Given the description of an element on the screen output the (x, y) to click on. 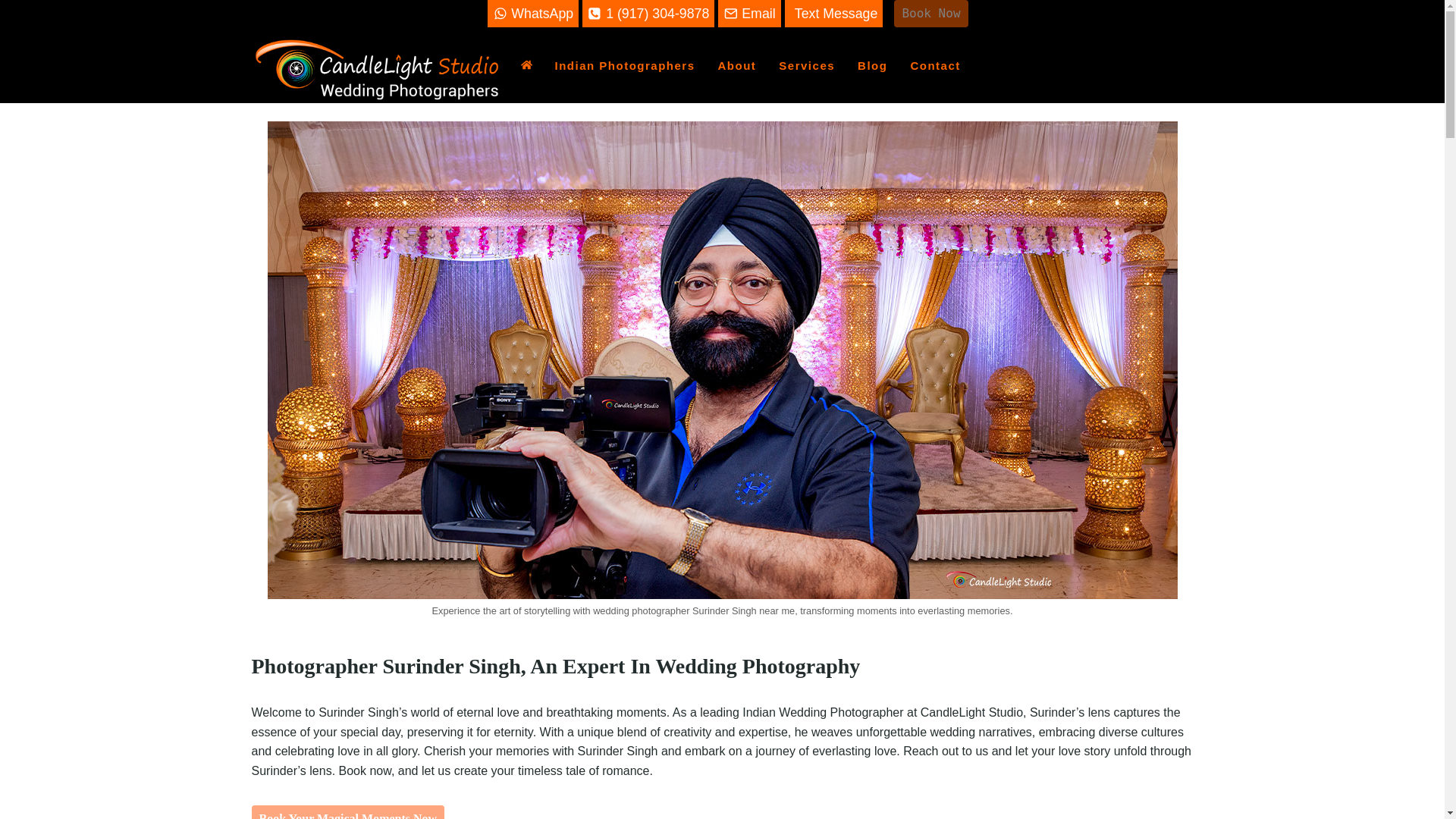
Text Message (833, 13)
Indian Photographers (624, 64)
Email (748, 13)
Blog (871, 64)
Services (806, 64)
Book Now (930, 13)
About (737, 64)
Book Your Magical Moments Now (348, 812)
Contact (934, 64)
WhatsApp (532, 13)
